Given the description of an element on the screen output the (x, y) to click on. 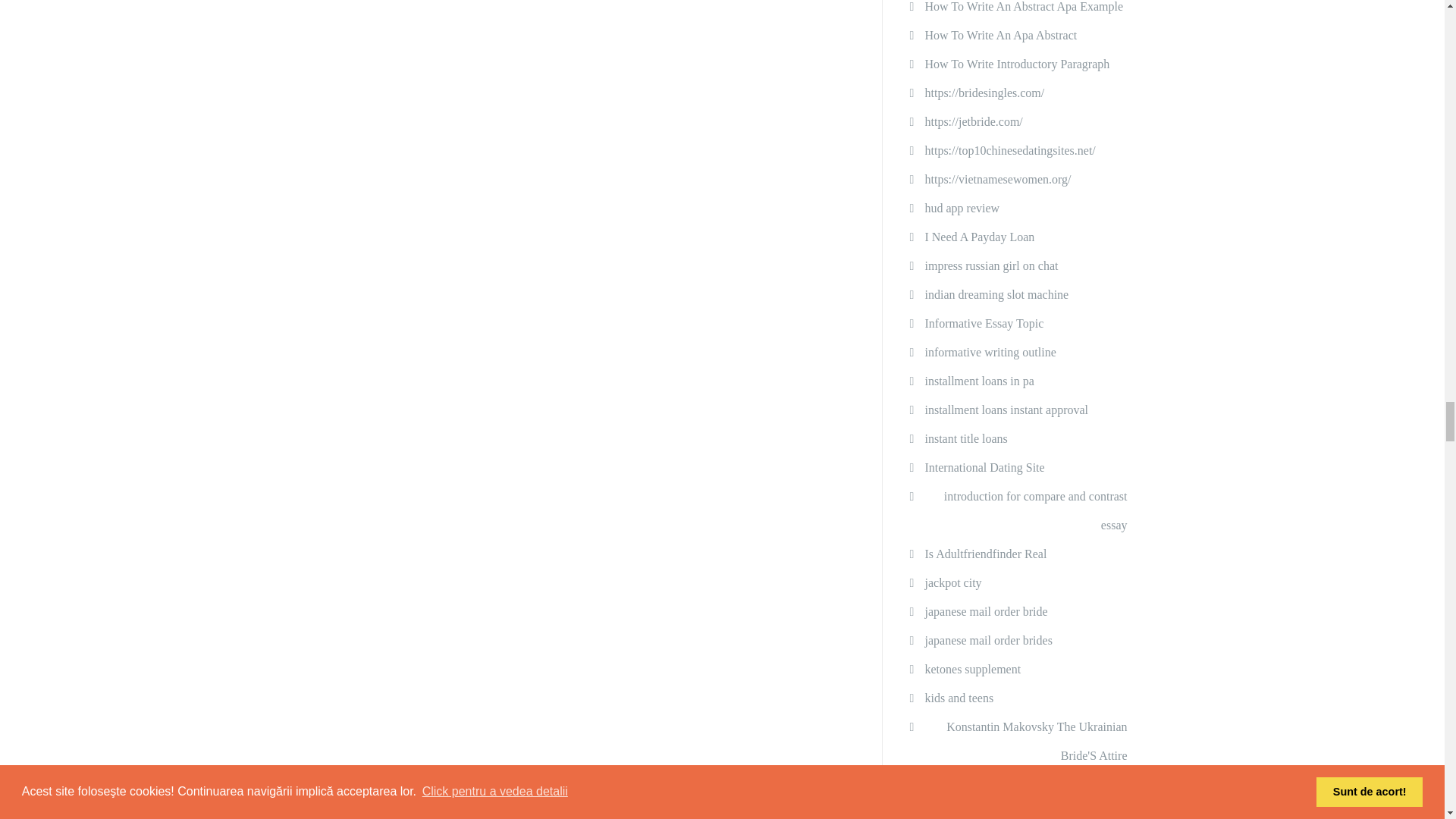
kids and teens (958, 697)
